Given the description of an element on the screen output the (x, y) to click on. 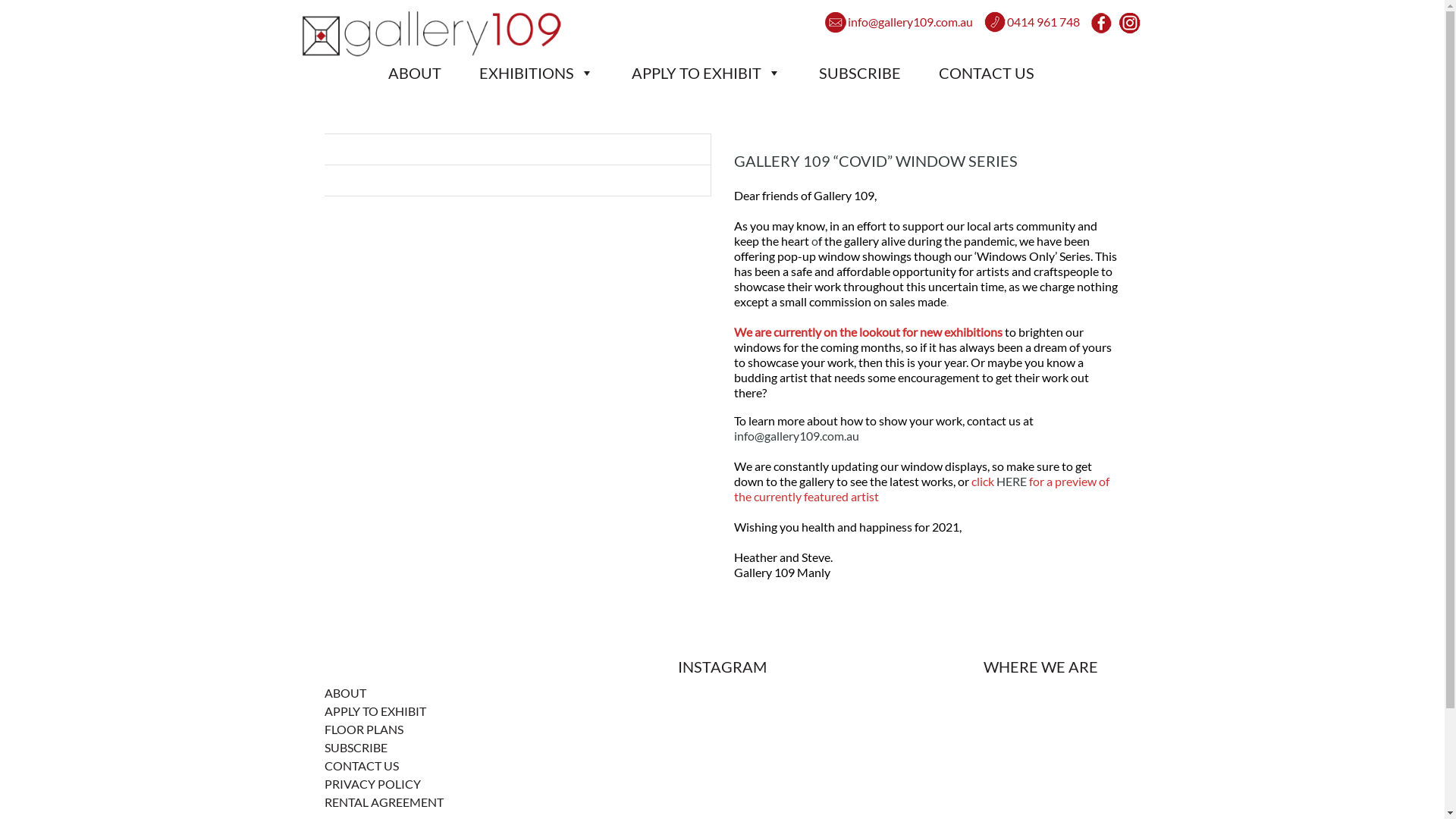
SUBSCRIBE Element type: text (355, 747)
o Element type: text (814, 240)
SUBSCRIBE Element type: text (871, 72)
info@gallery109.com.au Element type: text (898, 24)
ABOUT Element type: text (345, 693)
ABOUT Element type: text (425, 72)
0414 961 748 Element type: text (1031, 24)
FLOOR PLANS Element type: text (363, 729)
CONTACT US Element type: text (361, 765)
PRIVACY POLICY Element type: text (372, 784)
RENTAL AGREEMENT Element type: text (383, 802)
info@gallery109.com.au Element type: text (796, 435)
CONTACT US Element type: text (997, 72)
APPLY TO EXHIBIT Element type: text (716, 72)
  Element type: text (1129, 25)
HERE Element type: text (1011, 480)
APPLY TO EXHIBIT Element type: text (375, 711)
  Element type: text (1102, 26)
EXHIBITIONS Element type: text (547, 72)
